Given the description of an element on the screen output the (x, y) to click on. 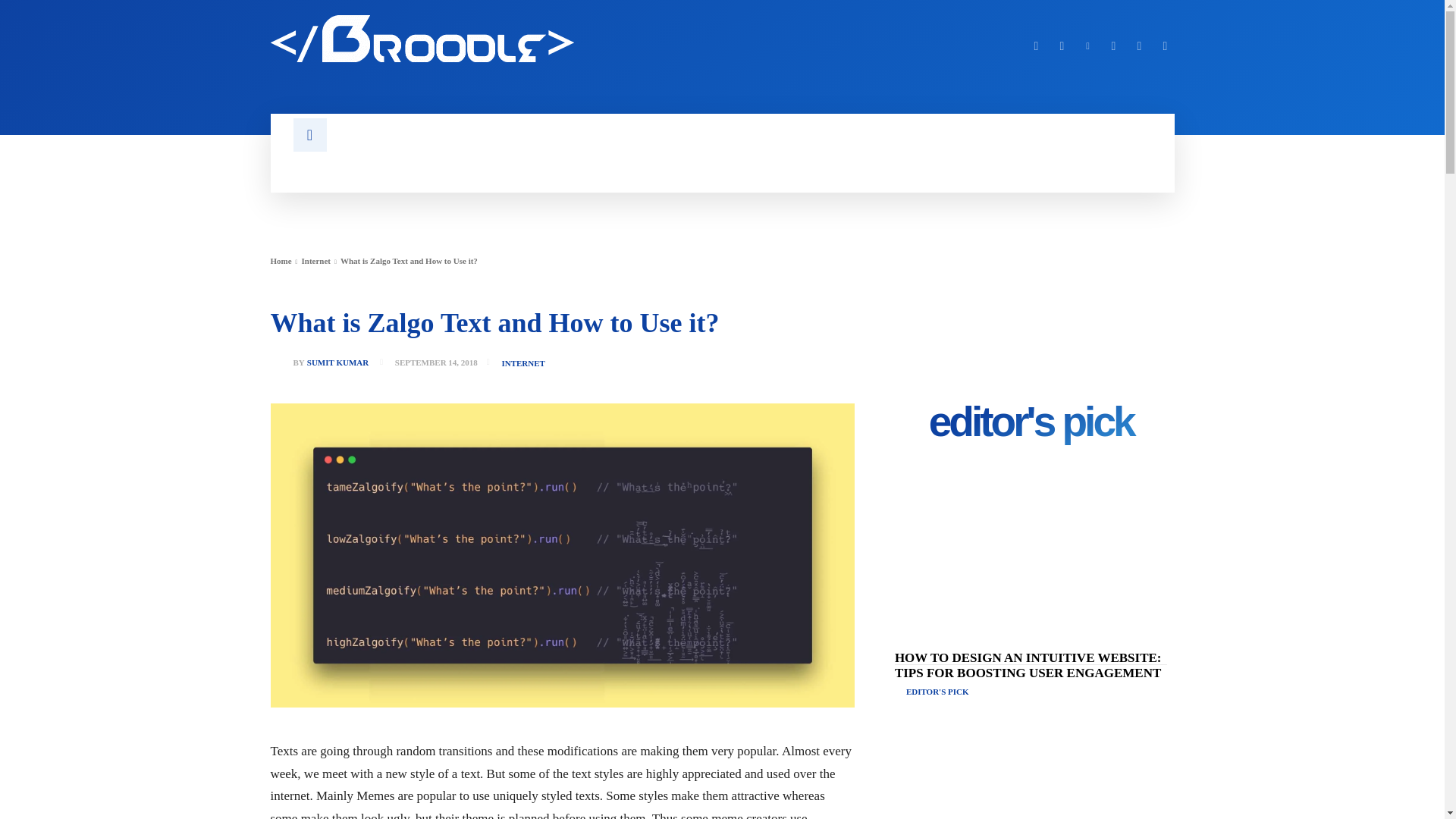
Broodle (486, 38)
Twitter (1138, 45)
Tumblr (1112, 45)
Facebook (1035, 45)
Instagram (1061, 45)
Broodle (421, 38)
Linkedin (1087, 45)
Youtube (1164, 45)
